Given the description of an element on the screen output the (x, y) to click on. 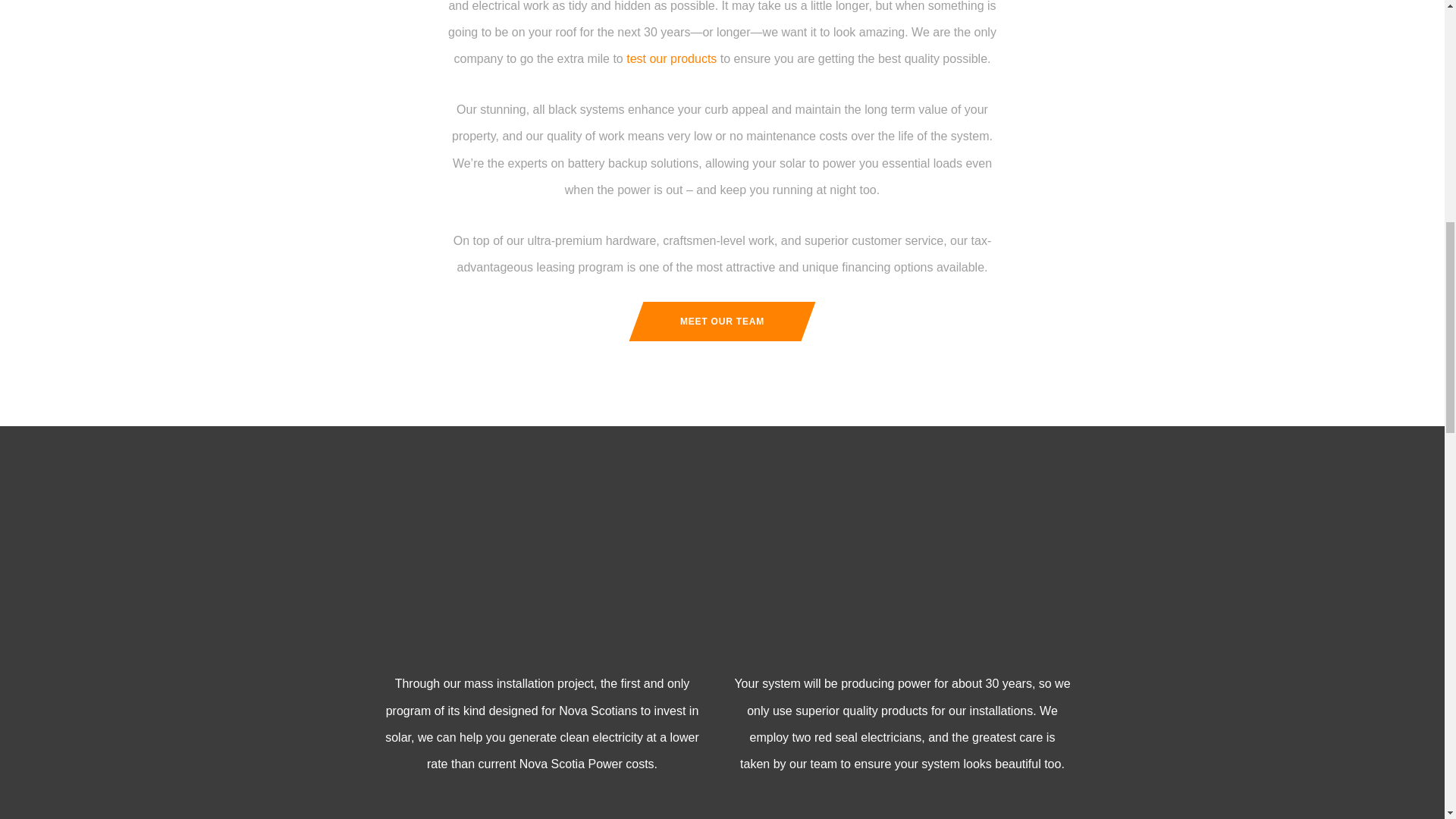
test our products (671, 58)
MEET OUR TEAM (721, 321)
